Given the description of an element on the screen output the (x, y) to click on. 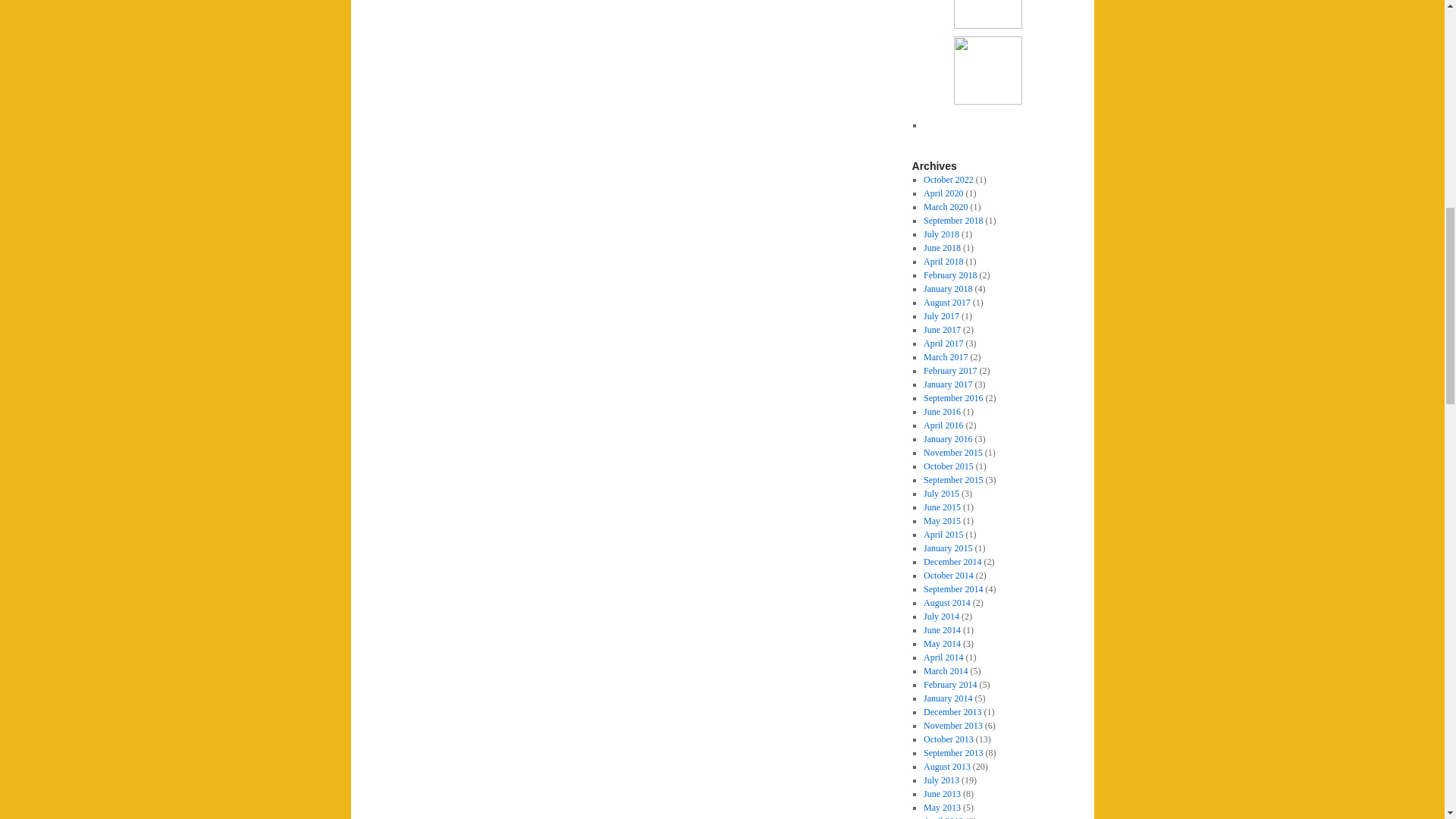
April 2018 (942, 261)
April 2020 (942, 193)
July 2018 (941, 234)
October 2022 (948, 179)
March 2020 (945, 206)
February 2018 (949, 275)
September 2018 (952, 220)
June 2018 (941, 247)
